Given the description of an element on the screen output the (x, y) to click on. 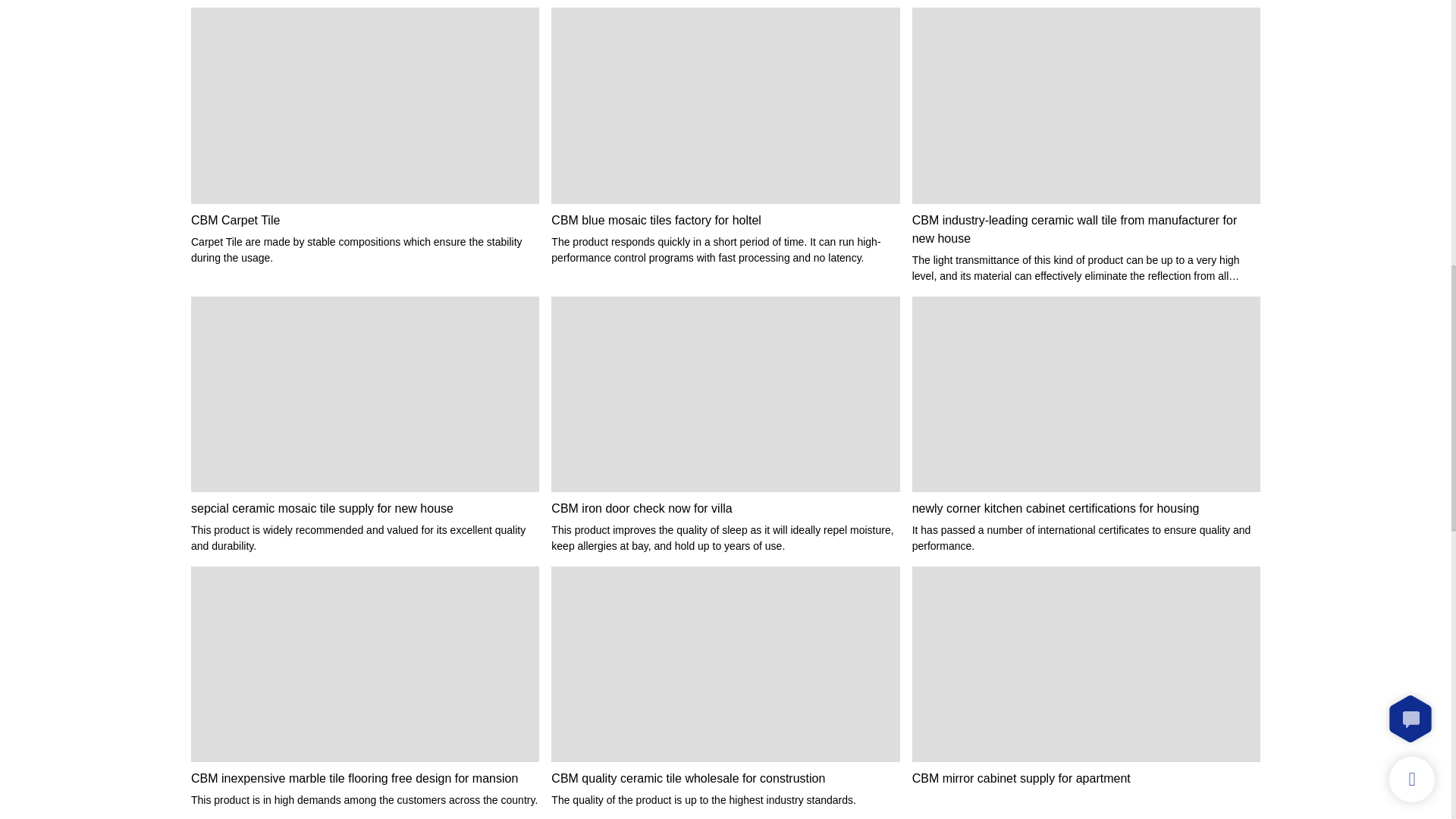
sepcial ceramic mosaic tile supply for new house (364, 508)
CBM blue mosaic tiles factory for holtel (725, 220)
CBM Carpet Tile (364, 220)
